Given the description of an element on the screen output the (x, y) to click on. 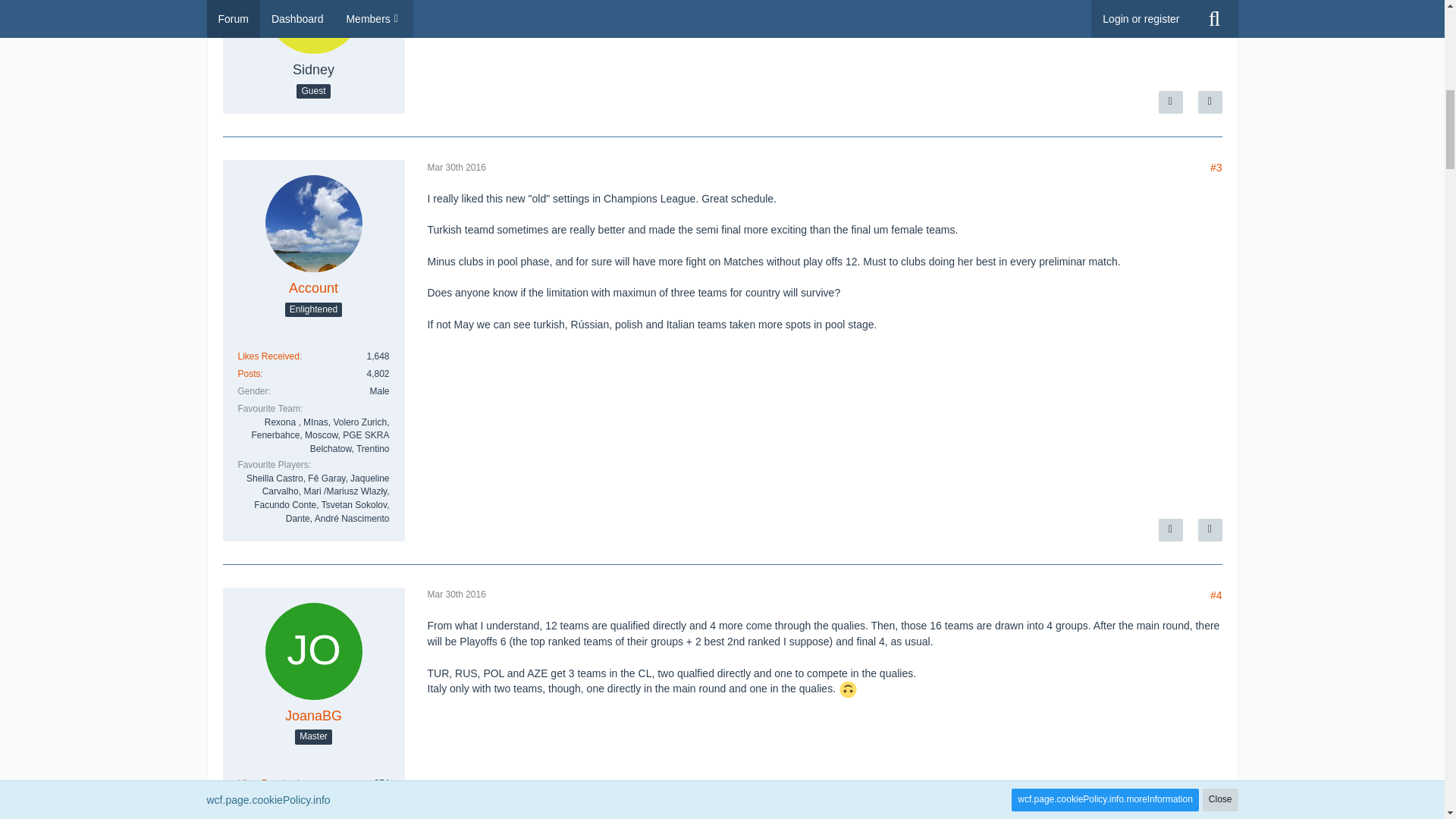
wacko (848, 689)
